Given the description of an element on the screen output the (x, y) to click on. 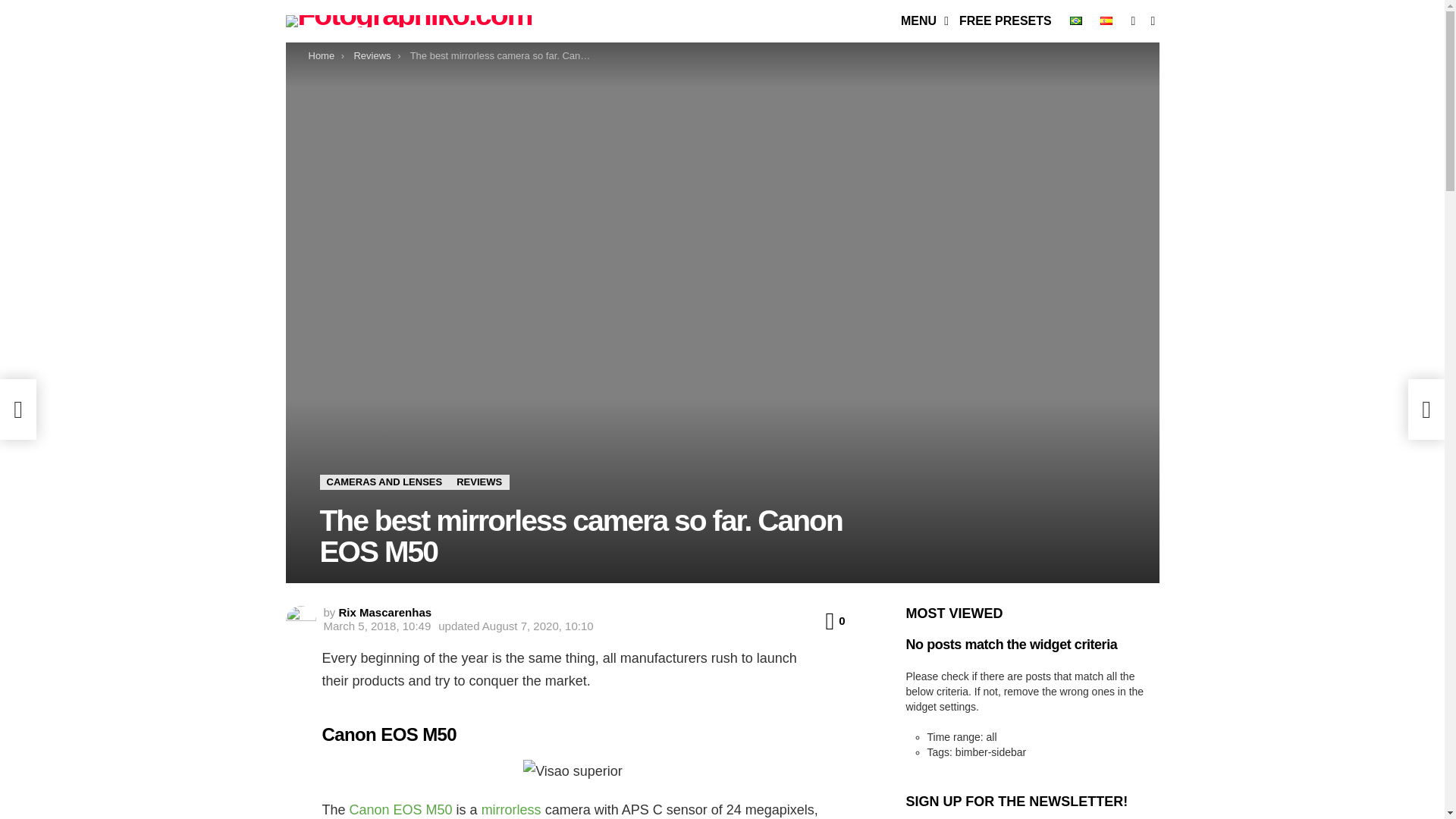
CAMERAS AND LENSES (384, 482)
Home (320, 55)
Posts by Rix Mascarenhas (385, 612)
REVIEWS (479, 482)
Reviews (371, 55)
Rix Mascarenhas (385, 612)
MENU (921, 20)
FREE PRESETS (1005, 20)
Canon EOS M50 (399, 809)
mirrorless (509, 809)
